Given the description of an element on the screen output the (x, y) to click on. 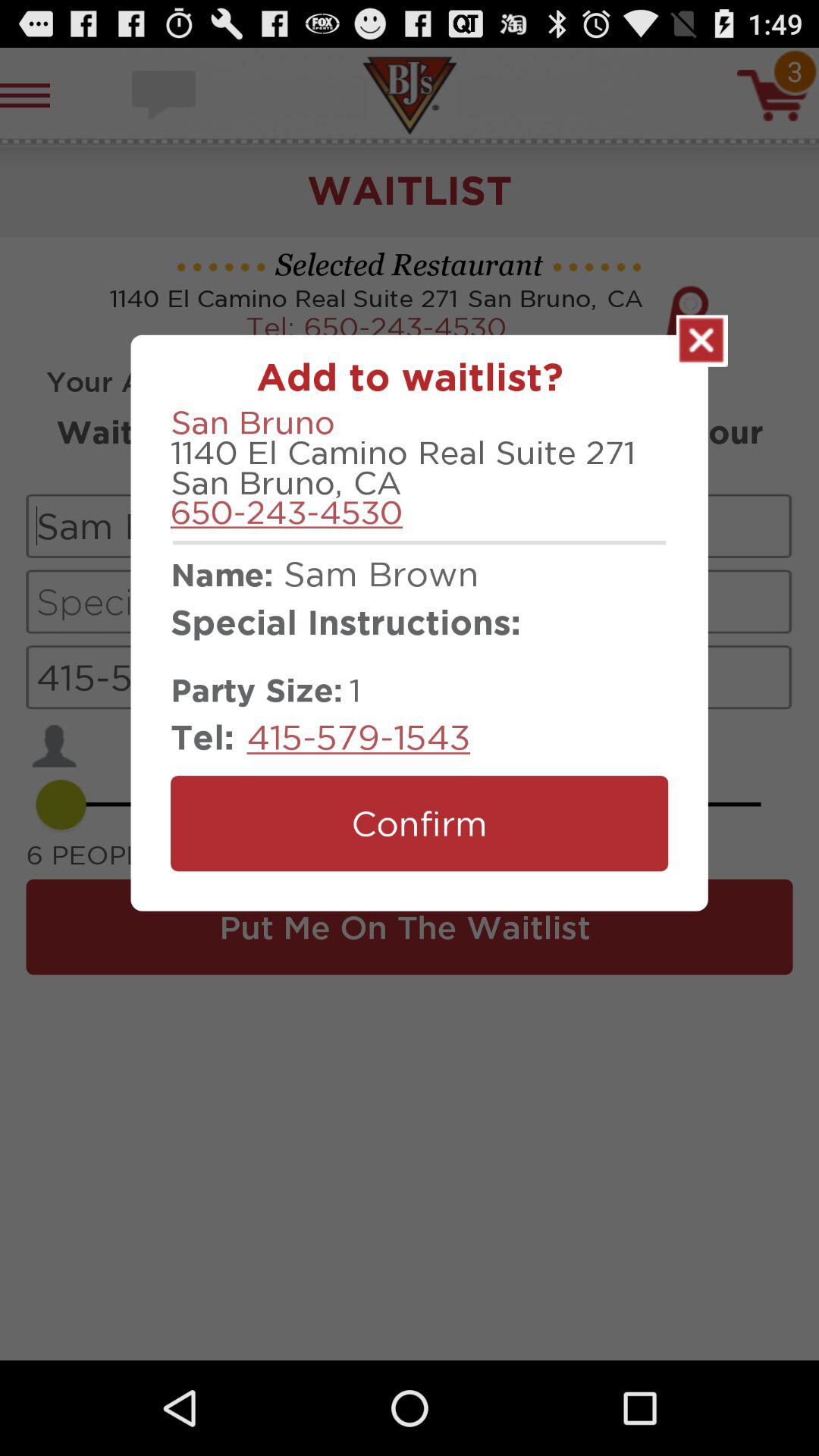
flip to 650-243-4530 icon (286, 511)
